Given the description of an element on the screen output the (x, y) to click on. 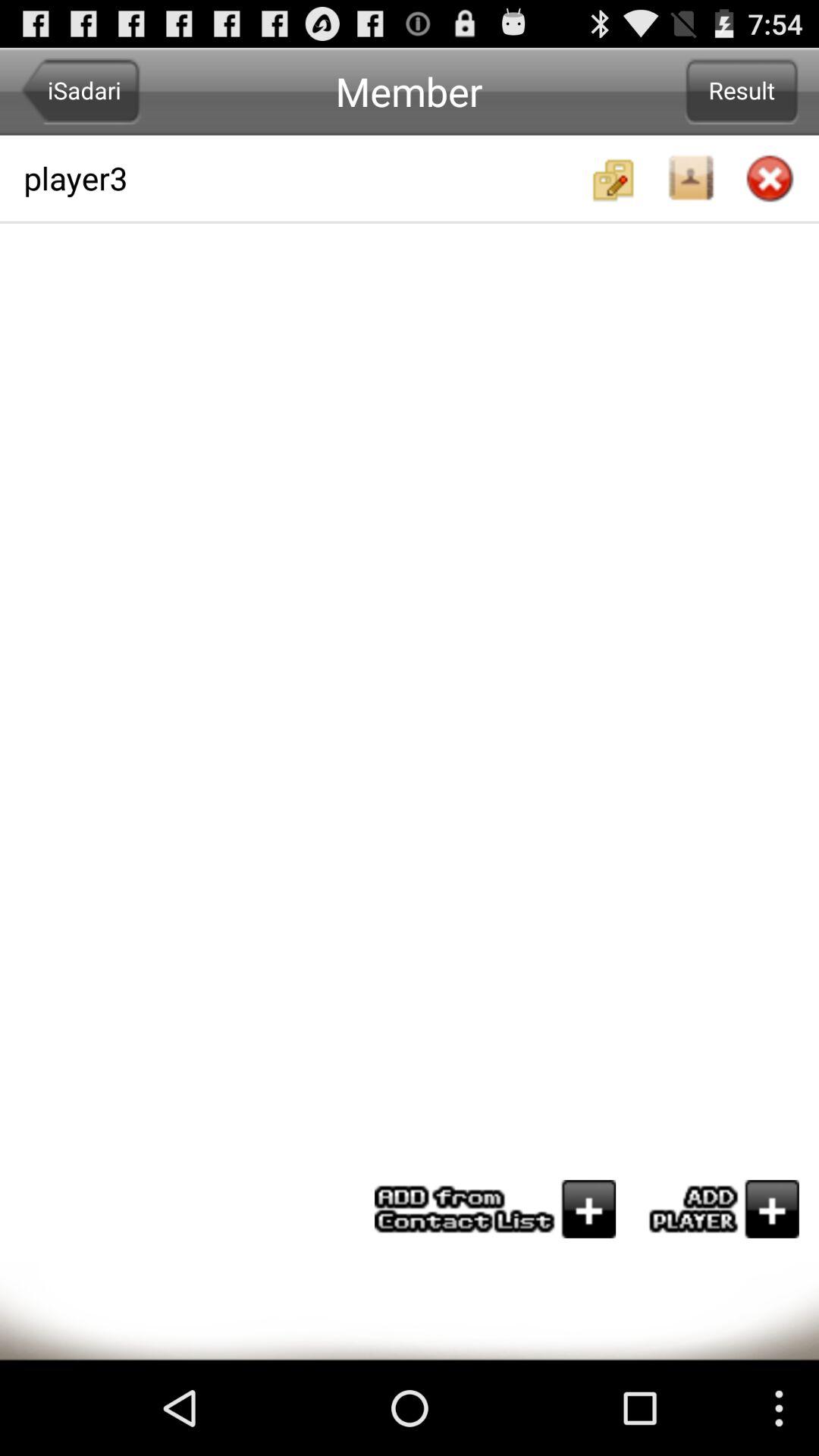
add from contacts (494, 1209)
